Given the description of an element on the screen output the (x, y) to click on. 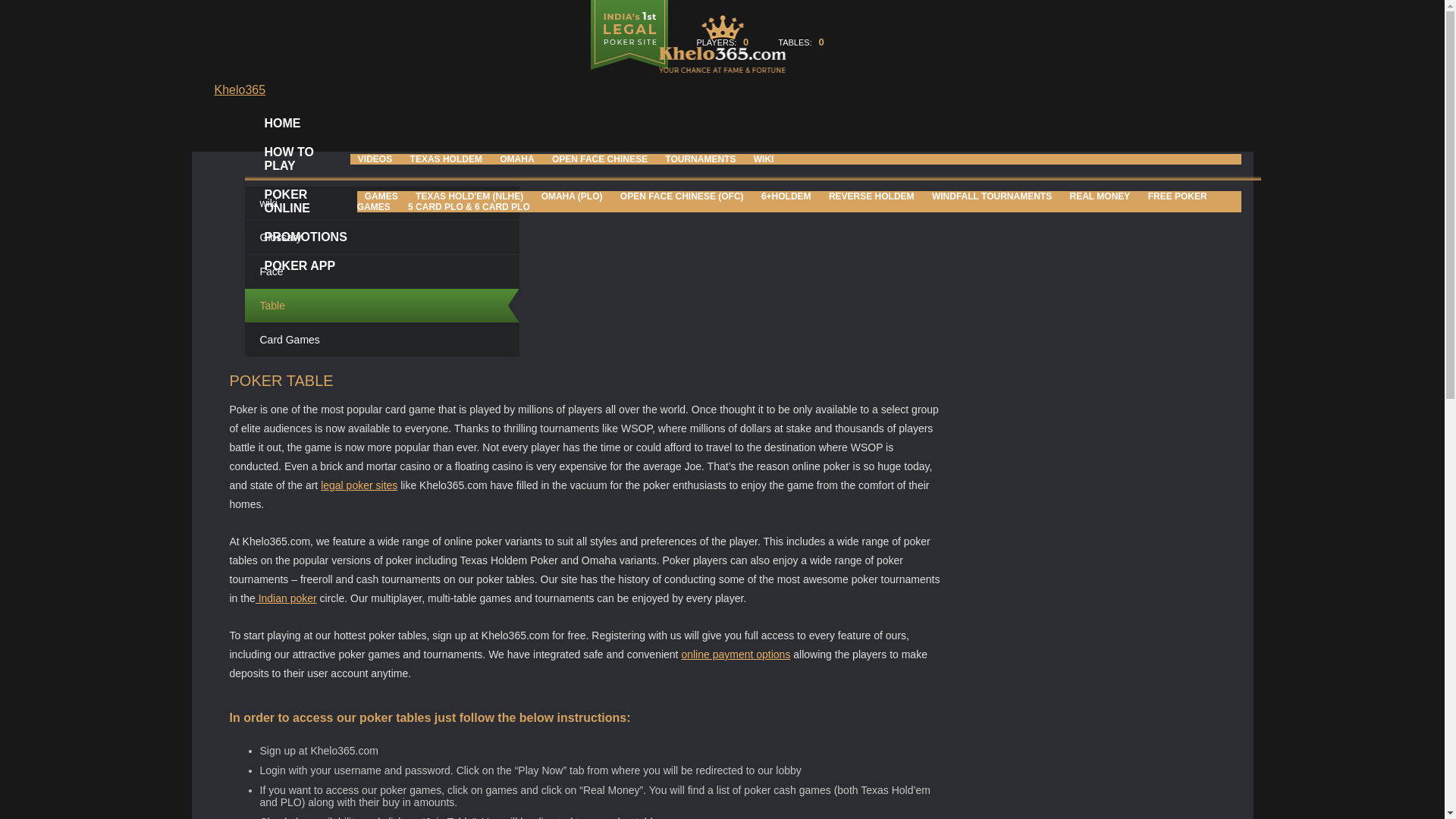
VIDEOS (374, 158)
FREE POKER GAMES (781, 201)
REVERSE HOLDEM (871, 196)
PROMOTIONS (304, 237)
GAMES (381, 196)
OMAHA (516, 158)
REAL MONEY (1100, 196)
POKER ONLINE (305, 201)
TEXAS HOLDEM (446, 158)
HEADLINERS (302, 295)
OPEN FACE CHINESE (599, 158)
POKER APP (298, 265)
Khelo365 (239, 89)
WIKI (763, 158)
